Given the description of an element on the screen output the (x, y) to click on. 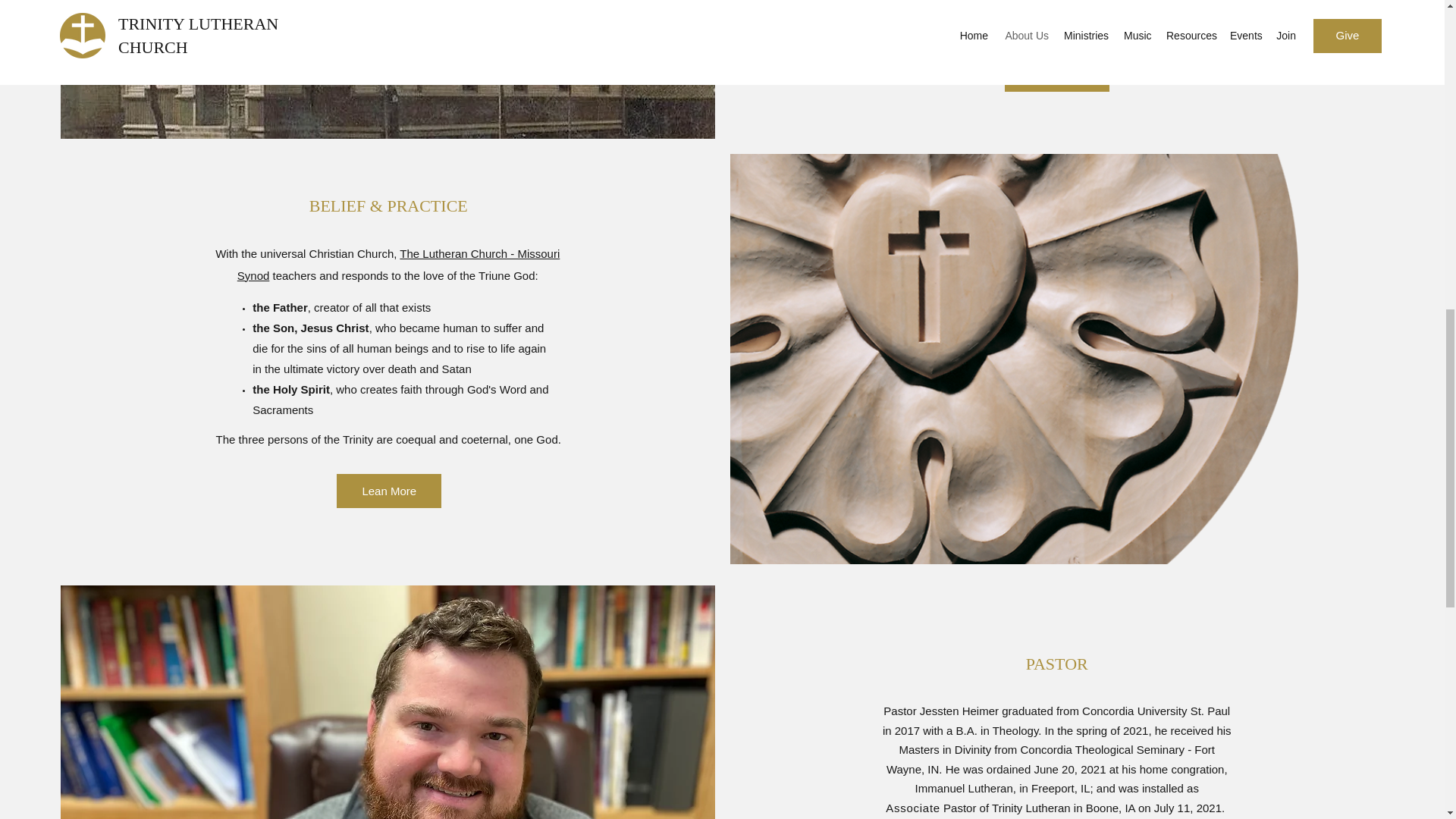
Lean More (1056, 74)
The Lutheran Church - Missouri Synod (398, 264)
Lean More (388, 490)
